Given the description of an element on the screen output the (x, y) to click on. 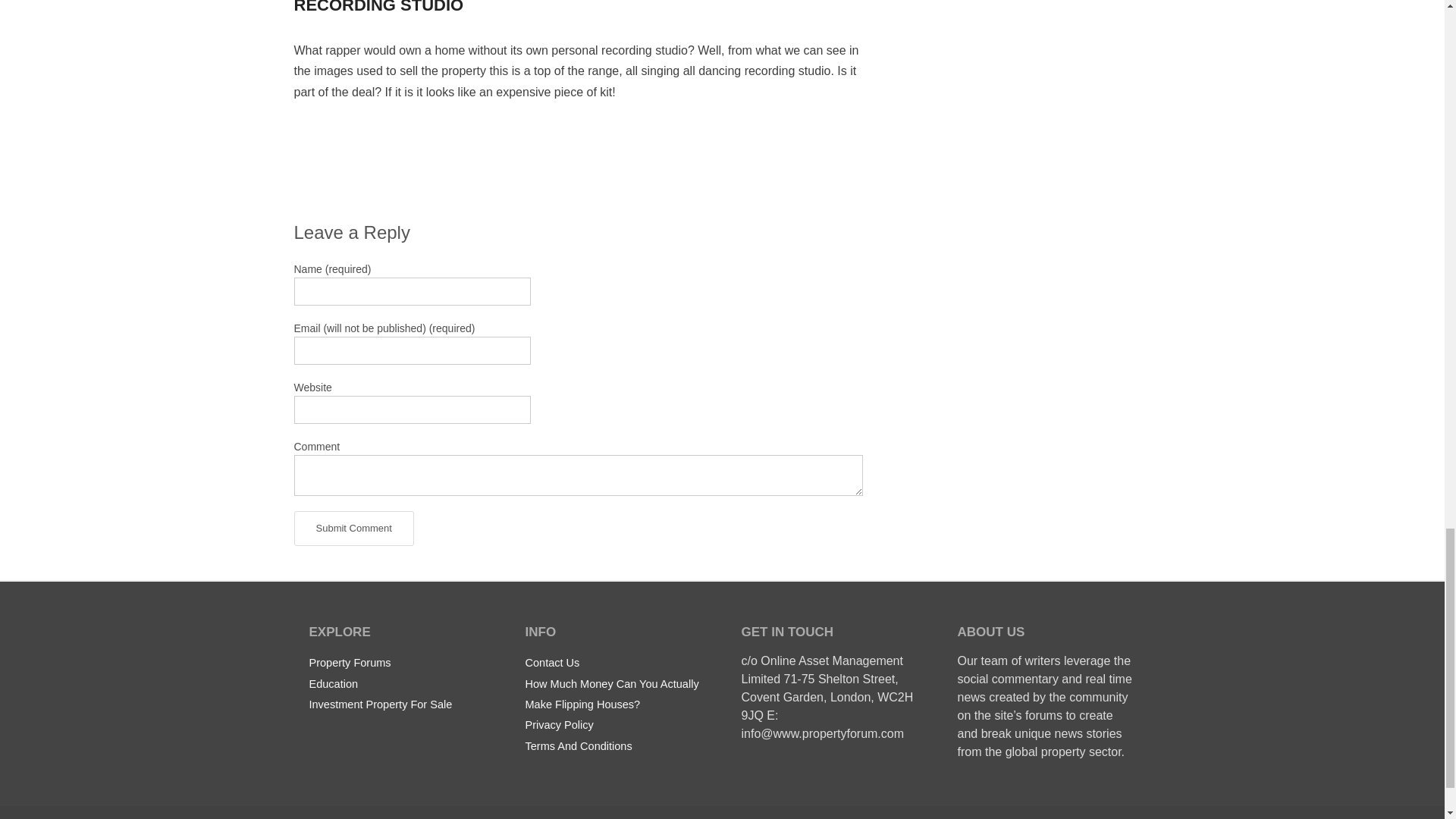
Contact Us (551, 662)
Property Forums (349, 662)
Submit Comment (353, 528)
Investment Property For Sale (380, 704)
Education (333, 683)
How Much Money Can You Actually Make Flipping Houses? (611, 694)
Submit Comment (353, 528)
Privacy Policy (558, 724)
Terms And Conditions (577, 745)
